Given the description of an element on the screen output the (x, y) to click on. 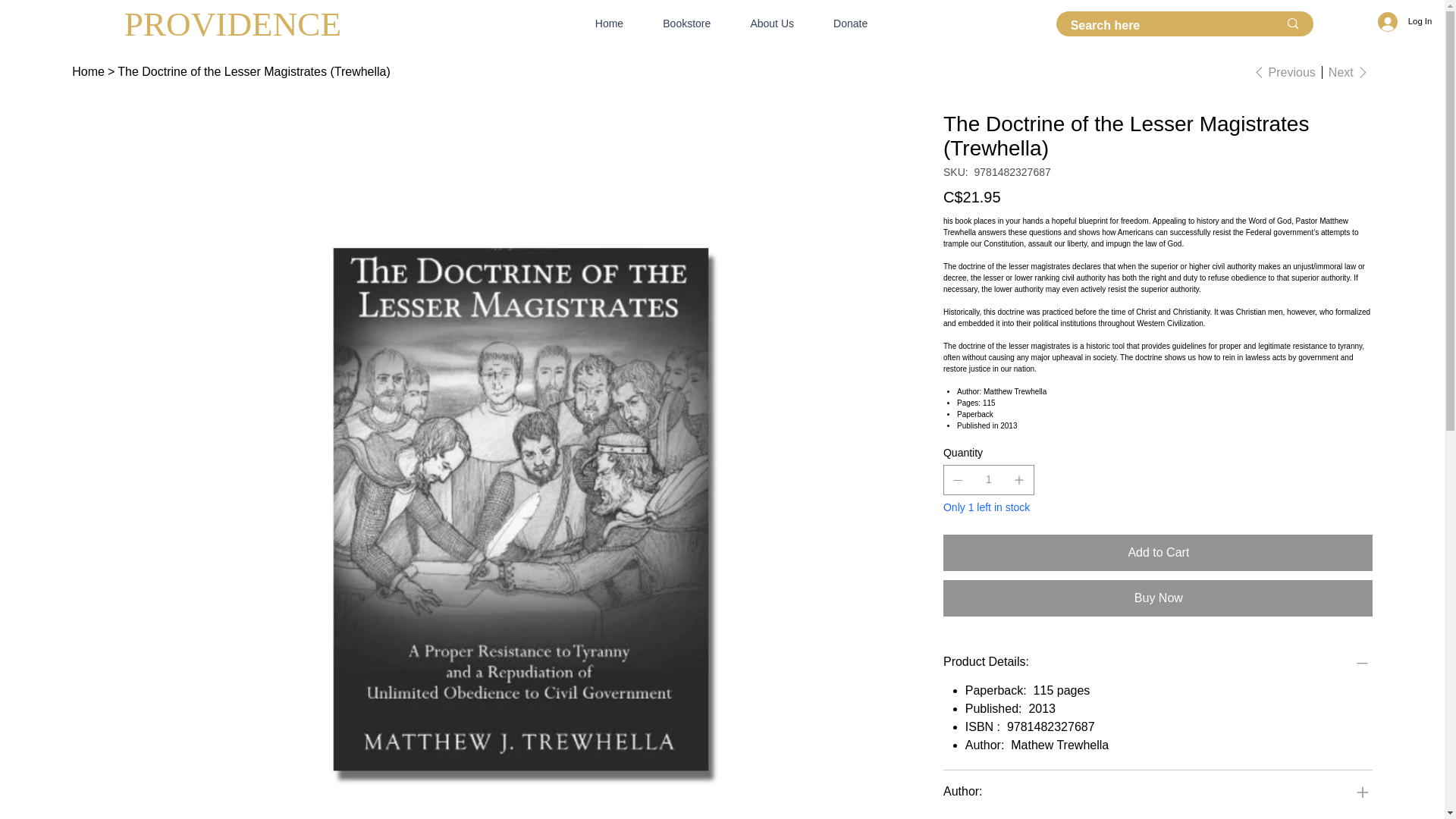
Home (87, 71)
Home (599, 22)
Log In (1404, 21)
Add to Cart (1158, 552)
Bookstore (677, 22)
About Us (762, 22)
Next (1350, 72)
Buy Now (1158, 597)
Donate (841, 22)
1 (988, 480)
Previous (1282, 72)
PROVIDENCE (232, 23)
